Given the description of an element on the screen output the (x, y) to click on. 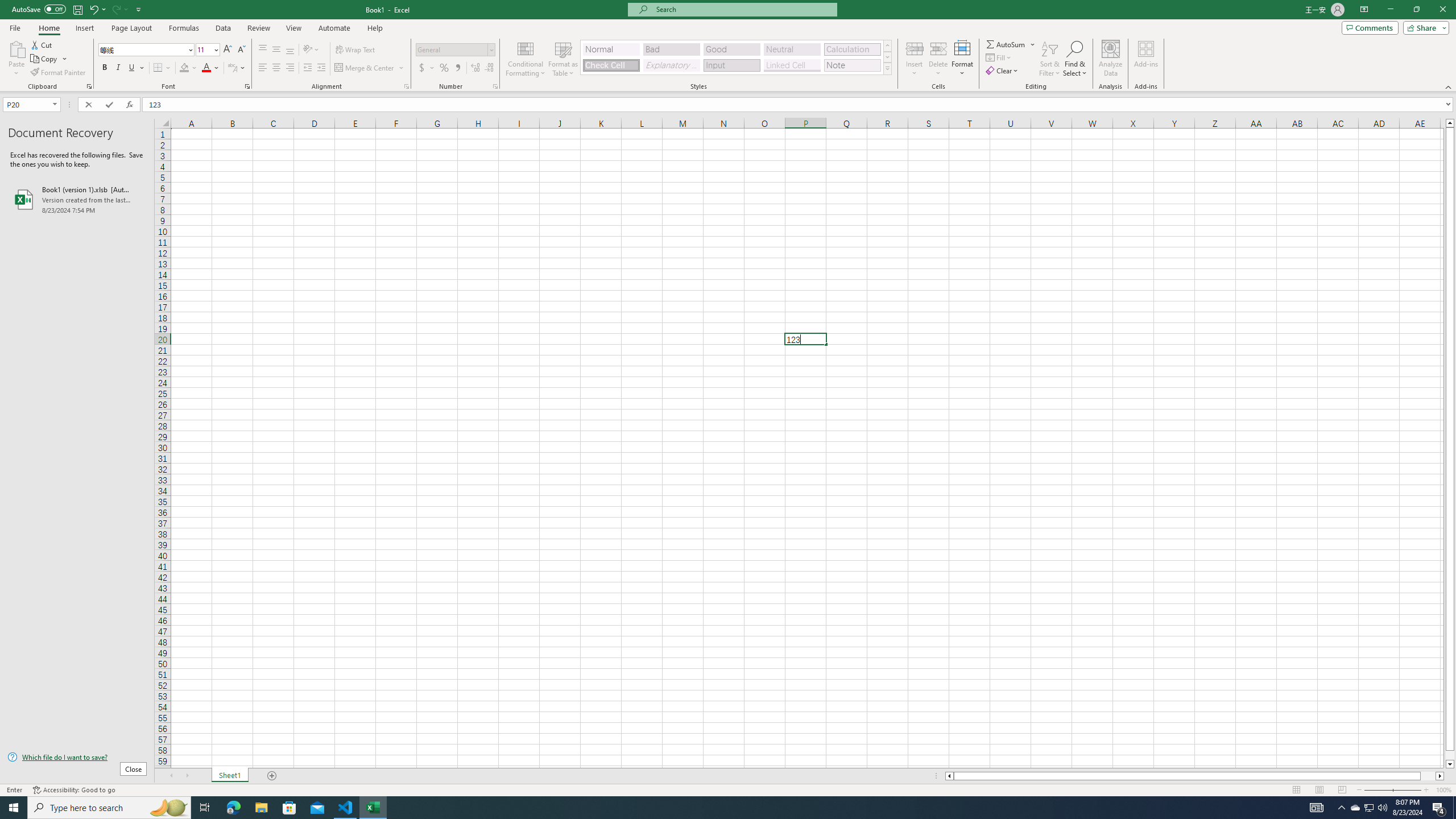
Number Format (455, 49)
Good (731, 49)
Font Color RGB(255, 0, 0) (206, 67)
Format Cell Alignment (405, 85)
Bold (104, 67)
Comma Style (457, 67)
Format (962, 58)
